Given the description of an element on the screen output the (x, y) to click on. 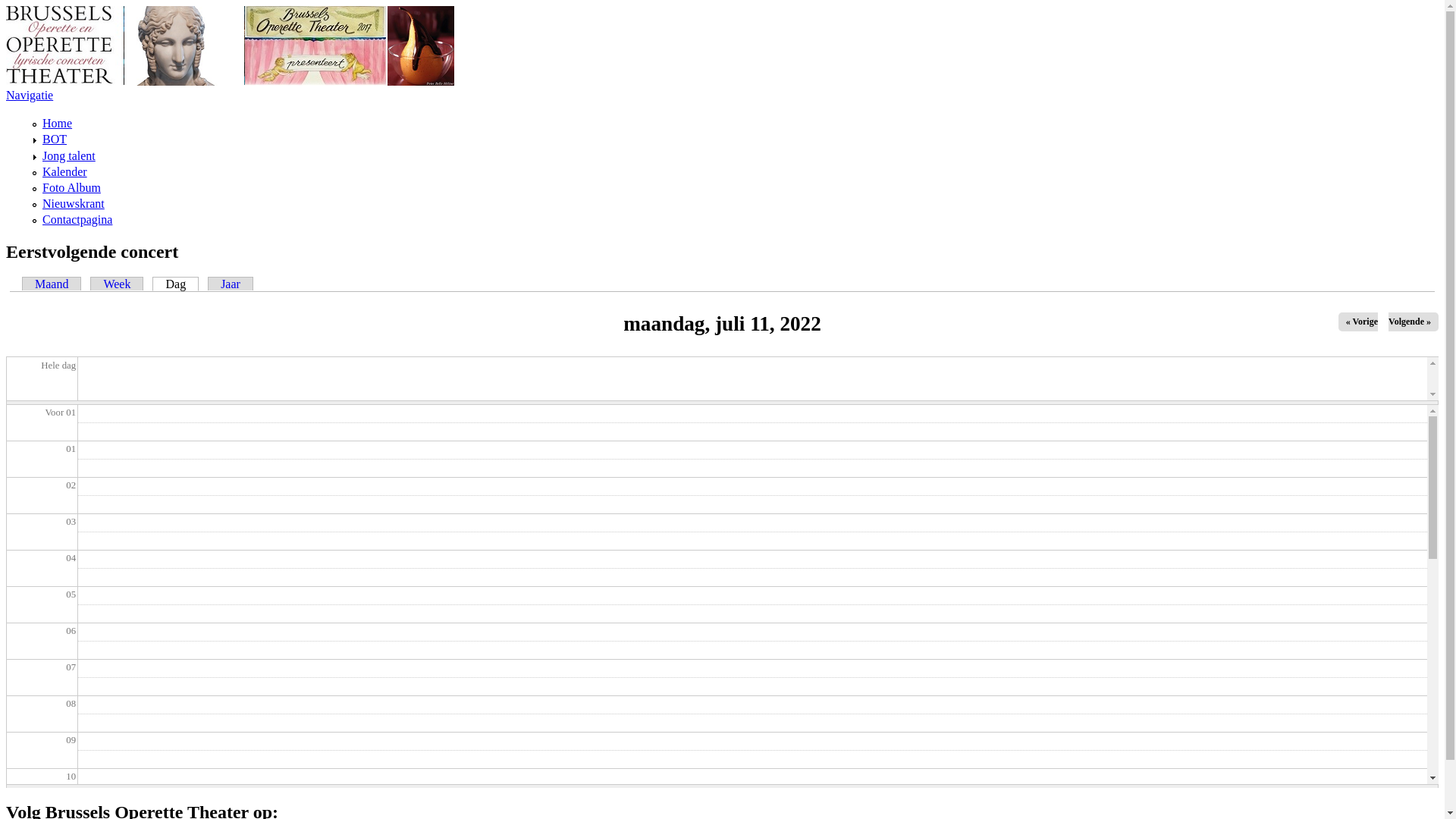
Week Element type: text (116, 283)
Foto Album Element type: text (71, 187)
Maand Element type: text (51, 283)
Contactpagina Element type: text (77, 219)
Dag
(actieve tabblad) Element type: text (175, 283)
Jaar Element type: text (230, 283)
Navigatie Element type: text (29, 94)
BOT Element type: text (54, 138)
Home Element type: text (57, 122)
Home Element type: hover (230, 81)
Nieuwskrant Element type: text (73, 203)
Jong talent Element type: text (68, 155)
Kalender Element type: text (64, 171)
